Given the description of an element on the screen output the (x, y) to click on. 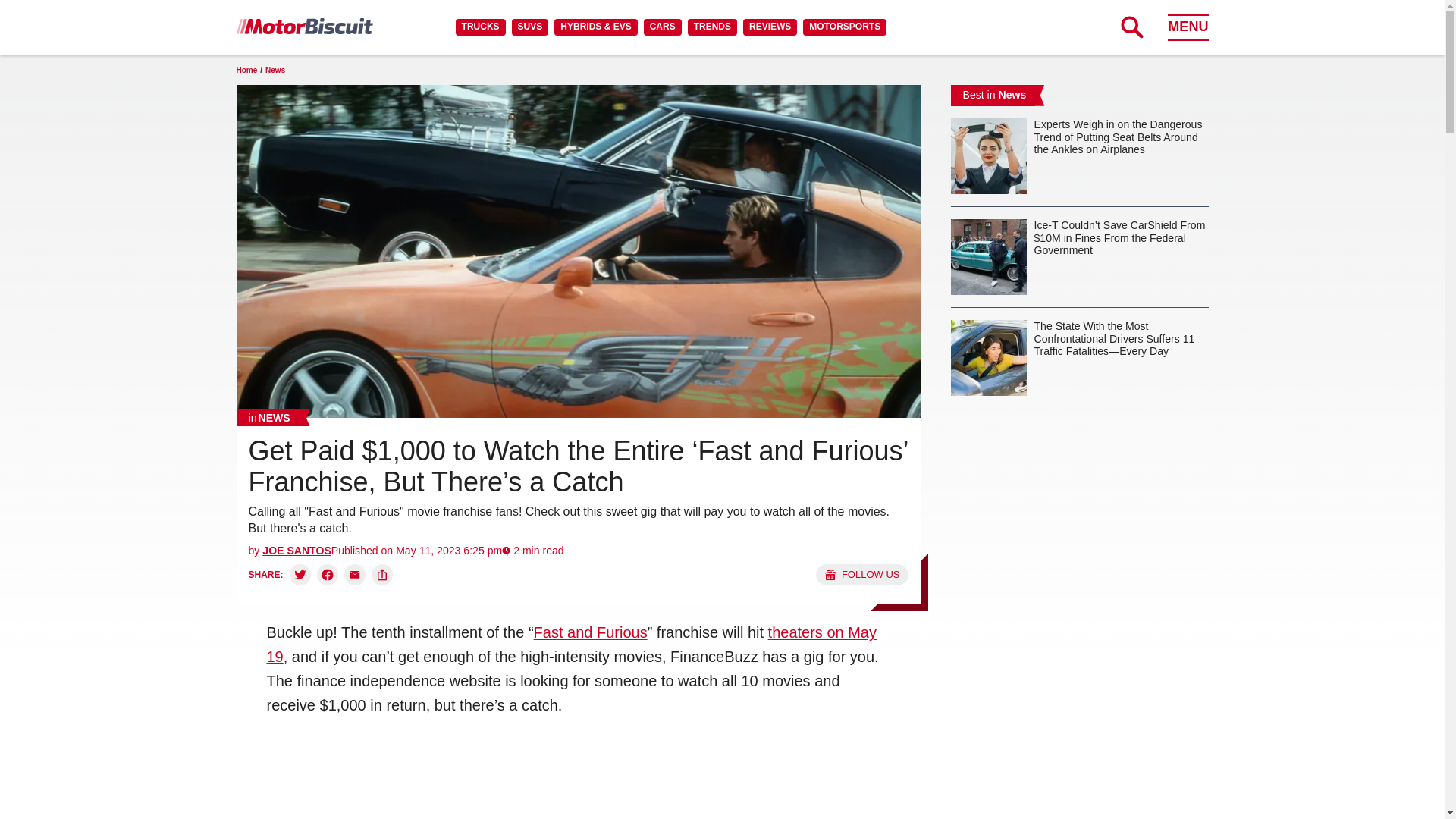
Copy link and share:  (382, 574)
Follow us on Google News (861, 574)
TRENDS (711, 26)
REVIEWS (769, 26)
Expand Search (1131, 26)
MotorBiscuit (303, 26)
News (268, 417)
MENU (1187, 26)
SUVS (530, 26)
CARS (662, 26)
TRUCKS (480, 26)
MOTORSPORTS (844, 26)
